Given the description of an element on the screen output the (x, y) to click on. 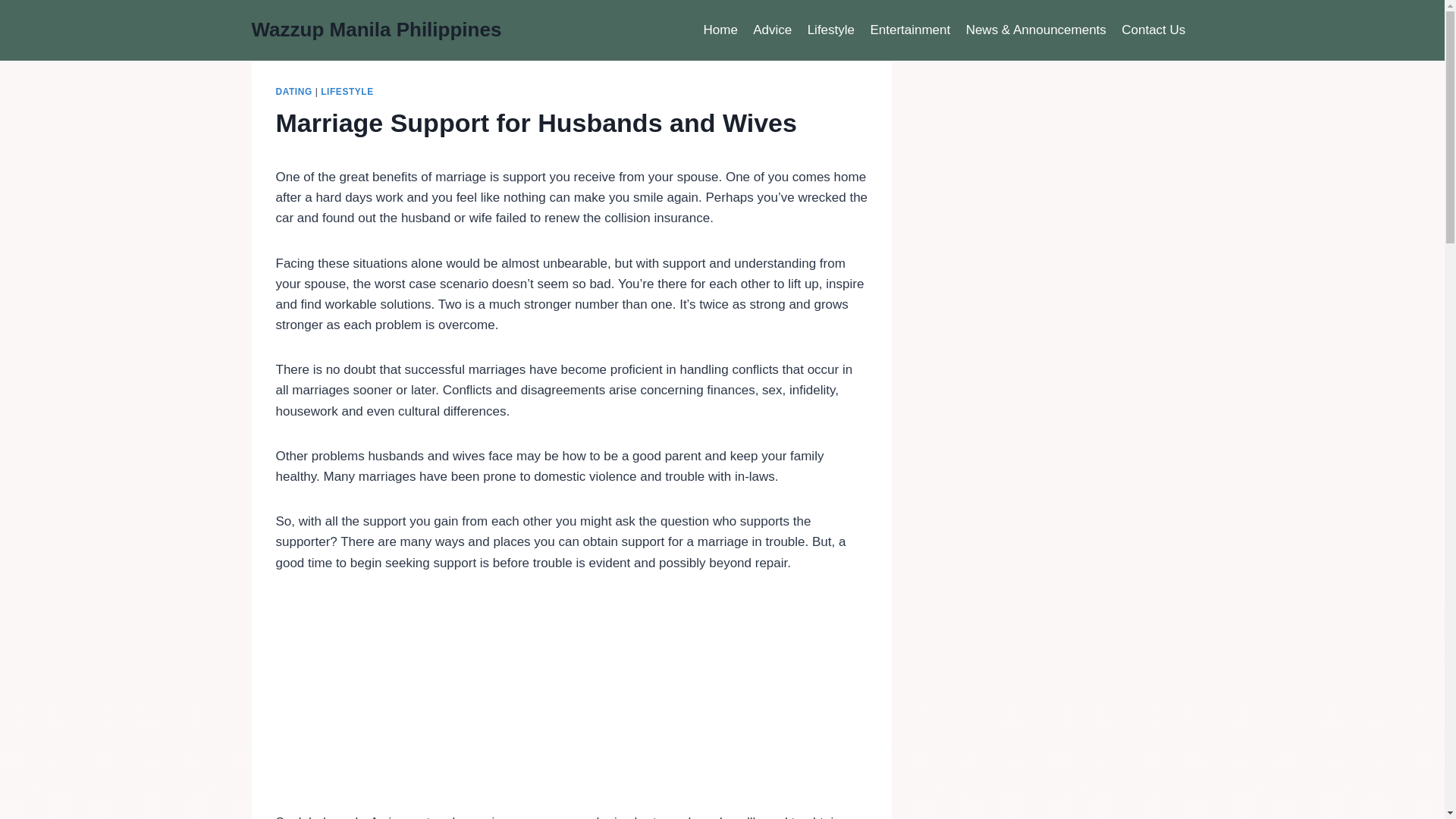
Wazzup Manila Philippines (376, 29)
Home (720, 30)
DATING (294, 91)
Contact Us (1152, 30)
Advice (772, 30)
Entertainment (909, 30)
LIFESTYLE (346, 91)
Lifestyle (830, 30)
